Given the description of an element on the screen output the (x, y) to click on. 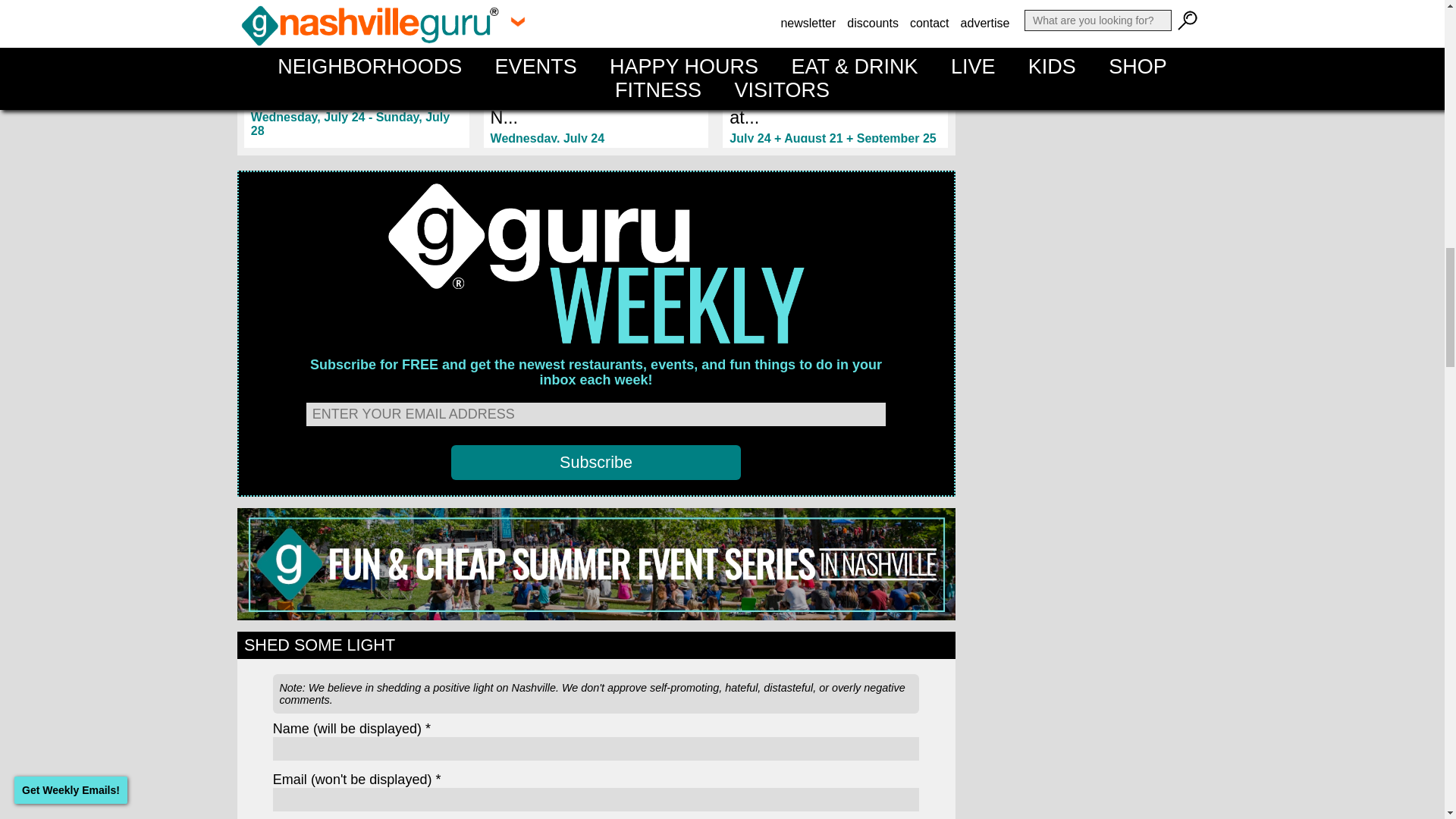
3rd party ad content (1093, 43)
3rd party ad content (1093, 606)
Subscribe (596, 462)
3rd party ad content (1093, 767)
3rd party ad content (1093, 401)
3rd party ad content (1093, 196)
